Given the description of an element on the screen output the (x, y) to click on. 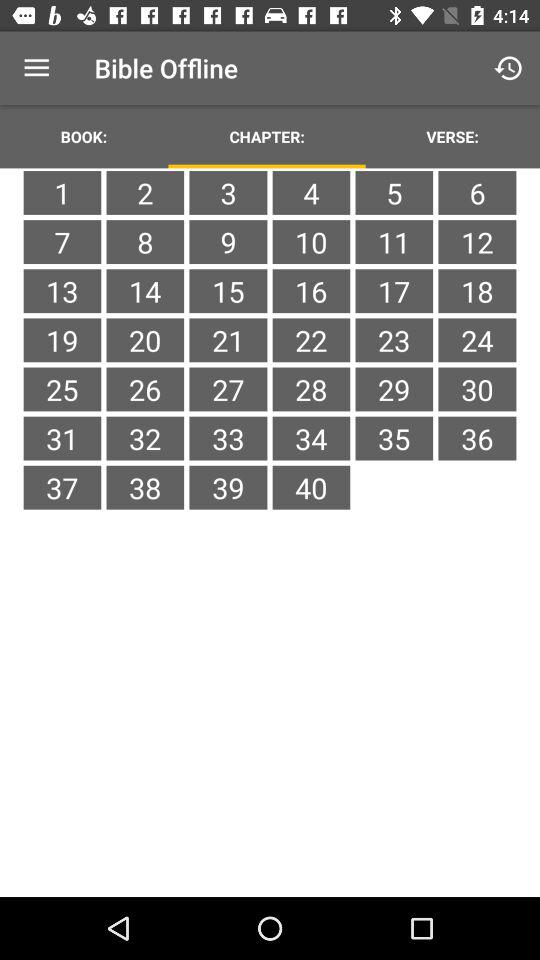
click icon to the left of 30 item (394, 438)
